Given the description of an element on the screen output the (x, y) to click on. 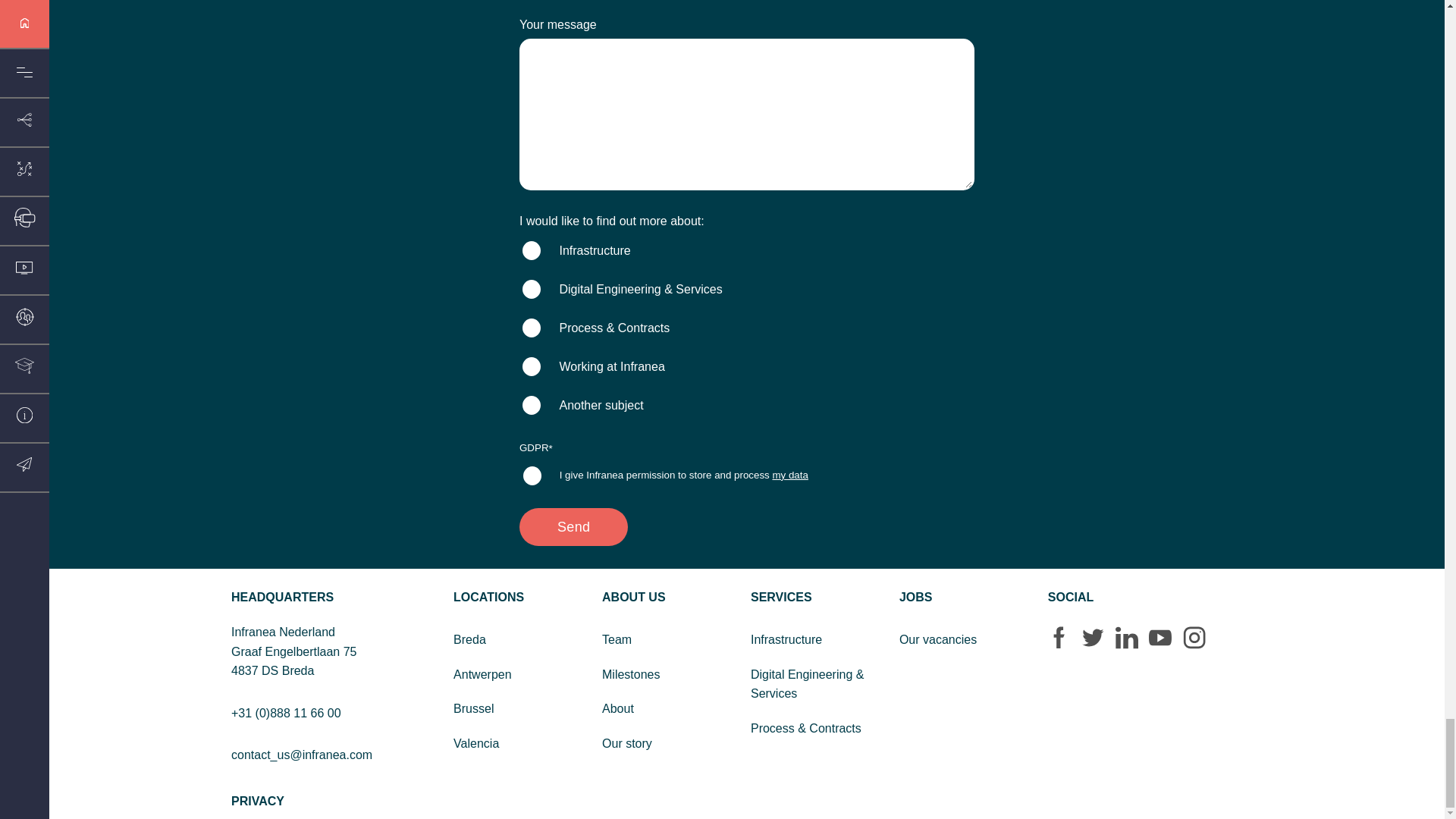
Another subject (531, 404)
Send (573, 526)
Working at Infranea (531, 366)
Infrastructure (531, 250)
